Given the description of an element on the screen output the (x, y) to click on. 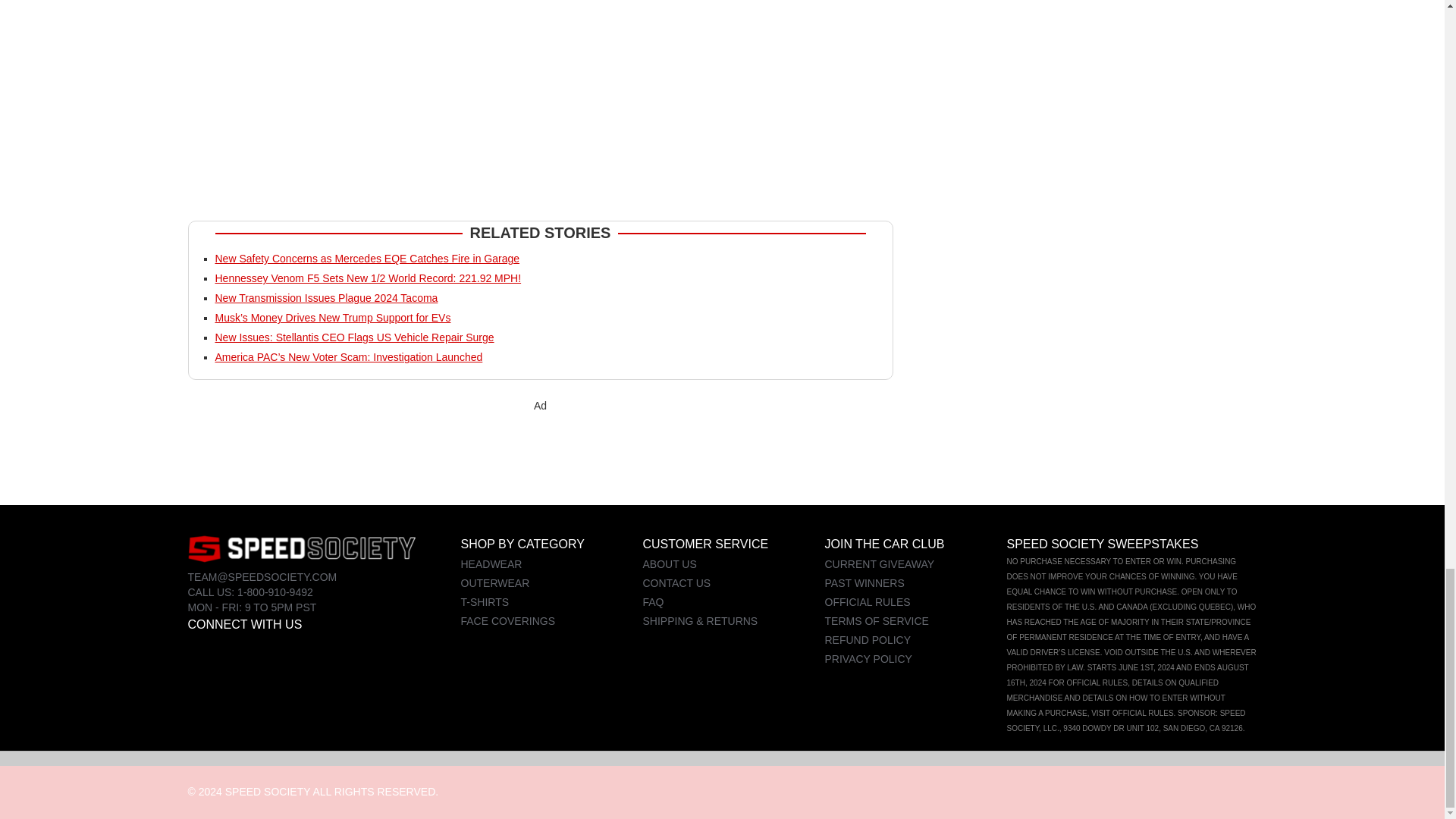
New Issues: Stellantis CEO Flags US Vehicle Repair Surge (355, 337)
New Transmission Issues Plague 2024 Tacoma (326, 297)
footer logo (300, 548)
New Safety Concerns as Mercedes EQE Catches Fire in Garage (367, 258)
